Given the description of an element on the screen output the (x, y) to click on. 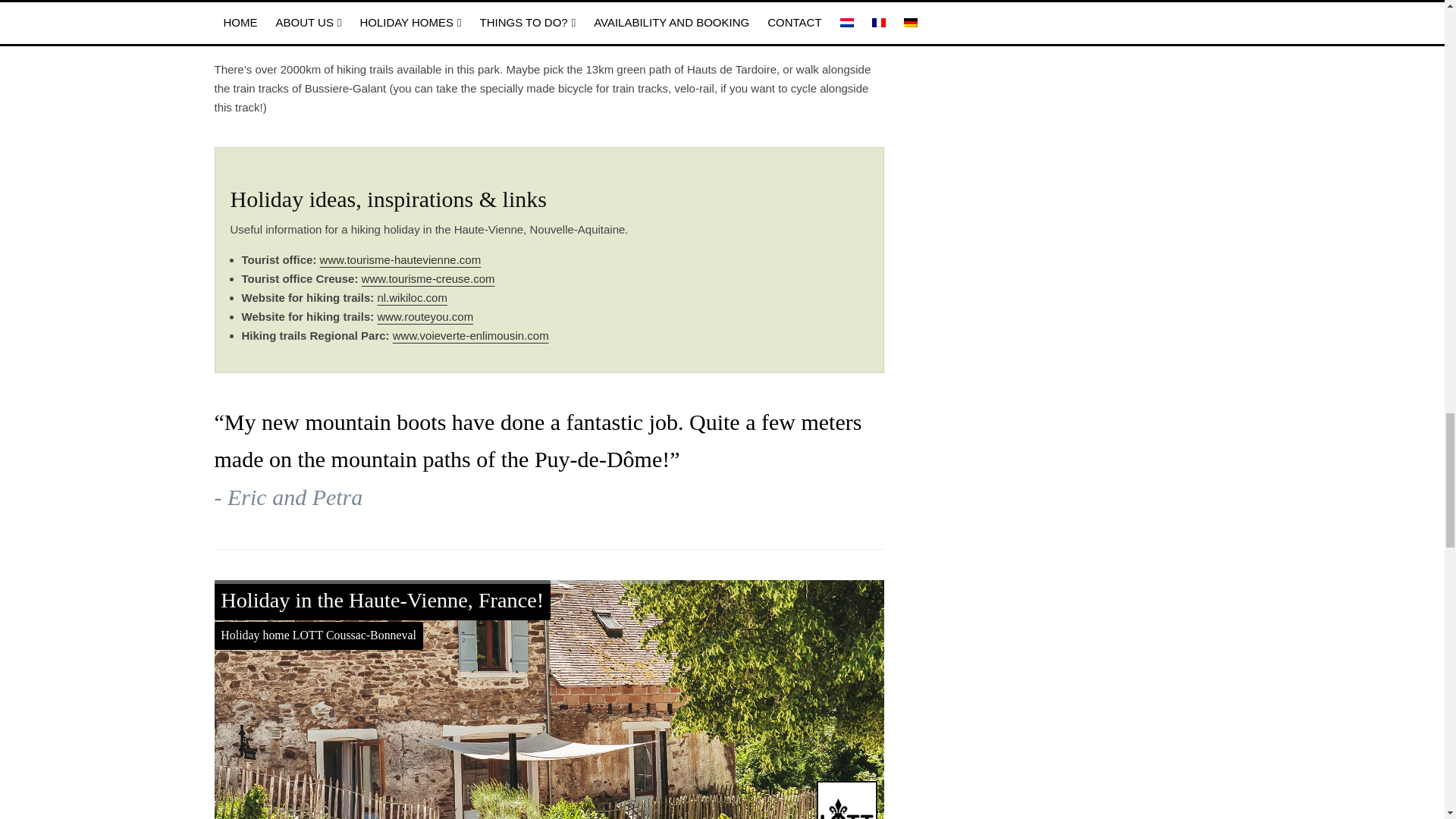
nl.wikiloc.com (411, 297)
www.voieverte-enlimousin.com (470, 335)
www.routeyou.com (425, 316)
www.tourisme-creuse.com (428, 278)
www.tourisme-hautevienne.com (400, 259)
